Given the description of an element on the screen output the (x, y) to click on. 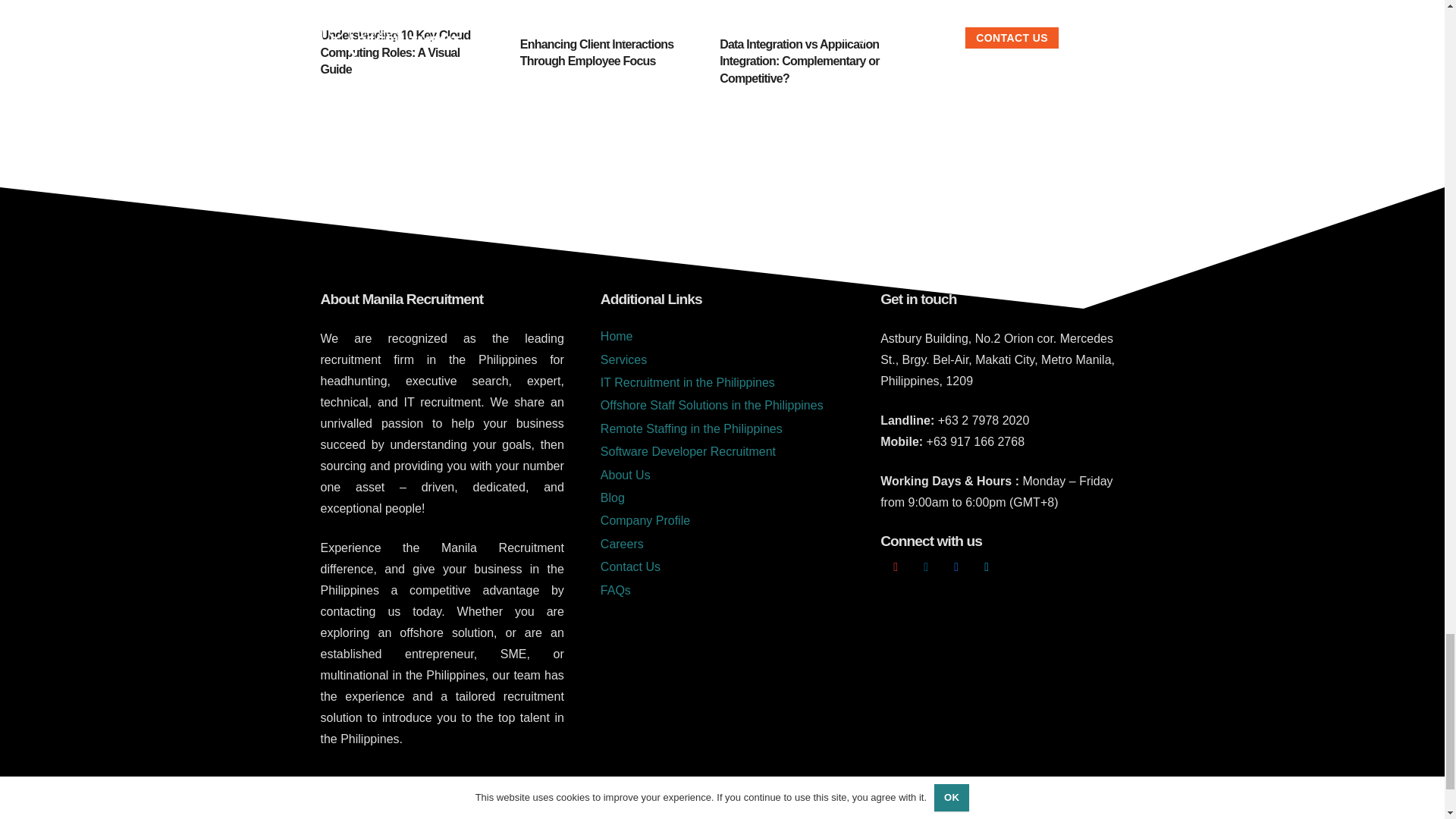
Vimeo (986, 567)
LinkedIn (925, 567)
Google (895, 567)
Facebook (955, 567)
